Given the description of an element on the screen output the (x, y) to click on. 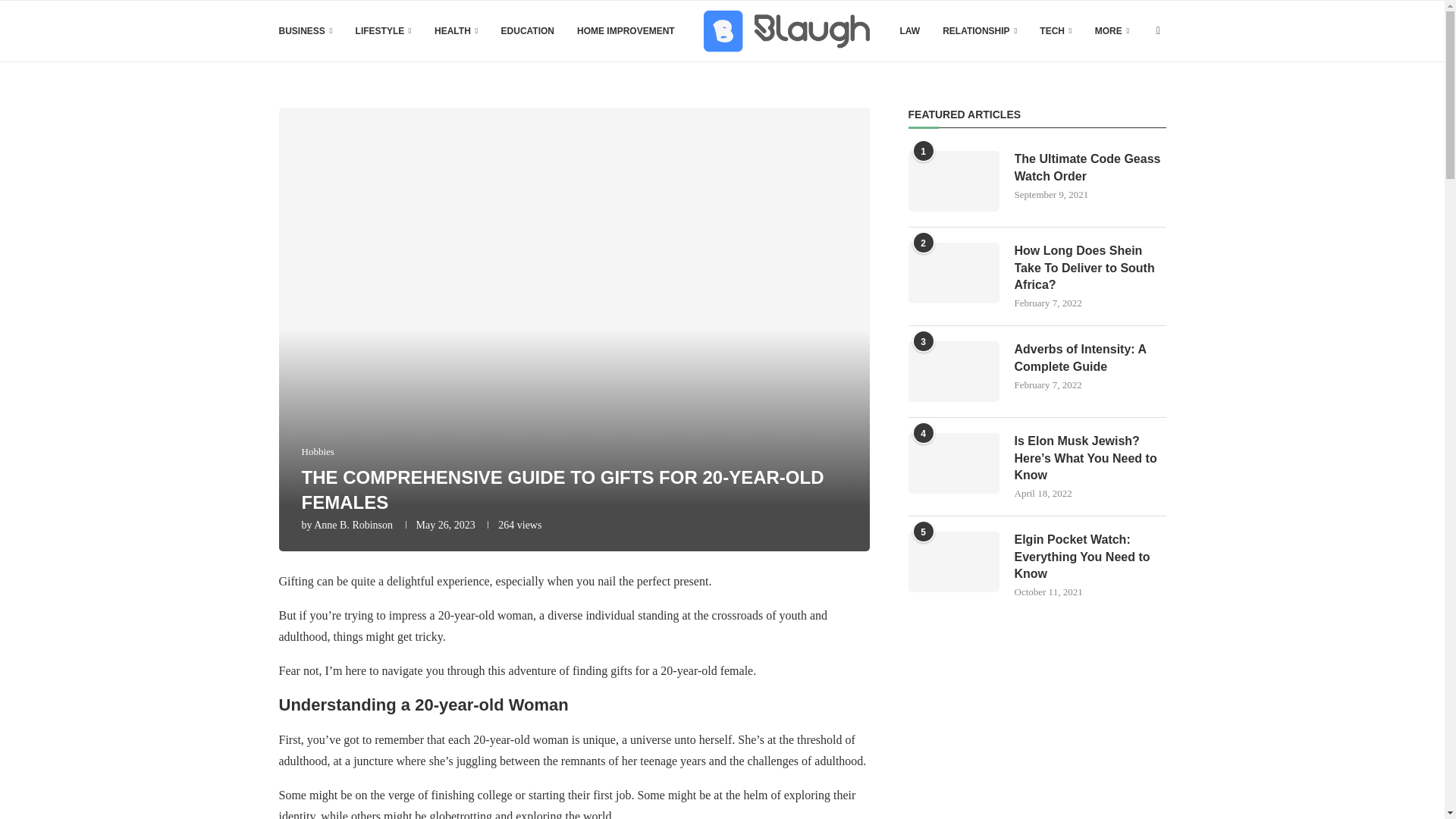
HOME IMPROVEMENT (625, 30)
How Long Does Shein Take To Deliver to South Africa? (953, 272)
Adverbs of Intensity: A Complete Guide (953, 371)
Hobbies (317, 451)
The Ultimate Code Geass Watch Order (953, 180)
How Long Does Shein Take To Deliver to South Africa? (1090, 267)
RELATIONSHIP (979, 30)
The Ultimate Code Geass Watch Order (1090, 167)
LIFESTYLE (383, 30)
